Given the description of an element on the screen output the (x, y) to click on. 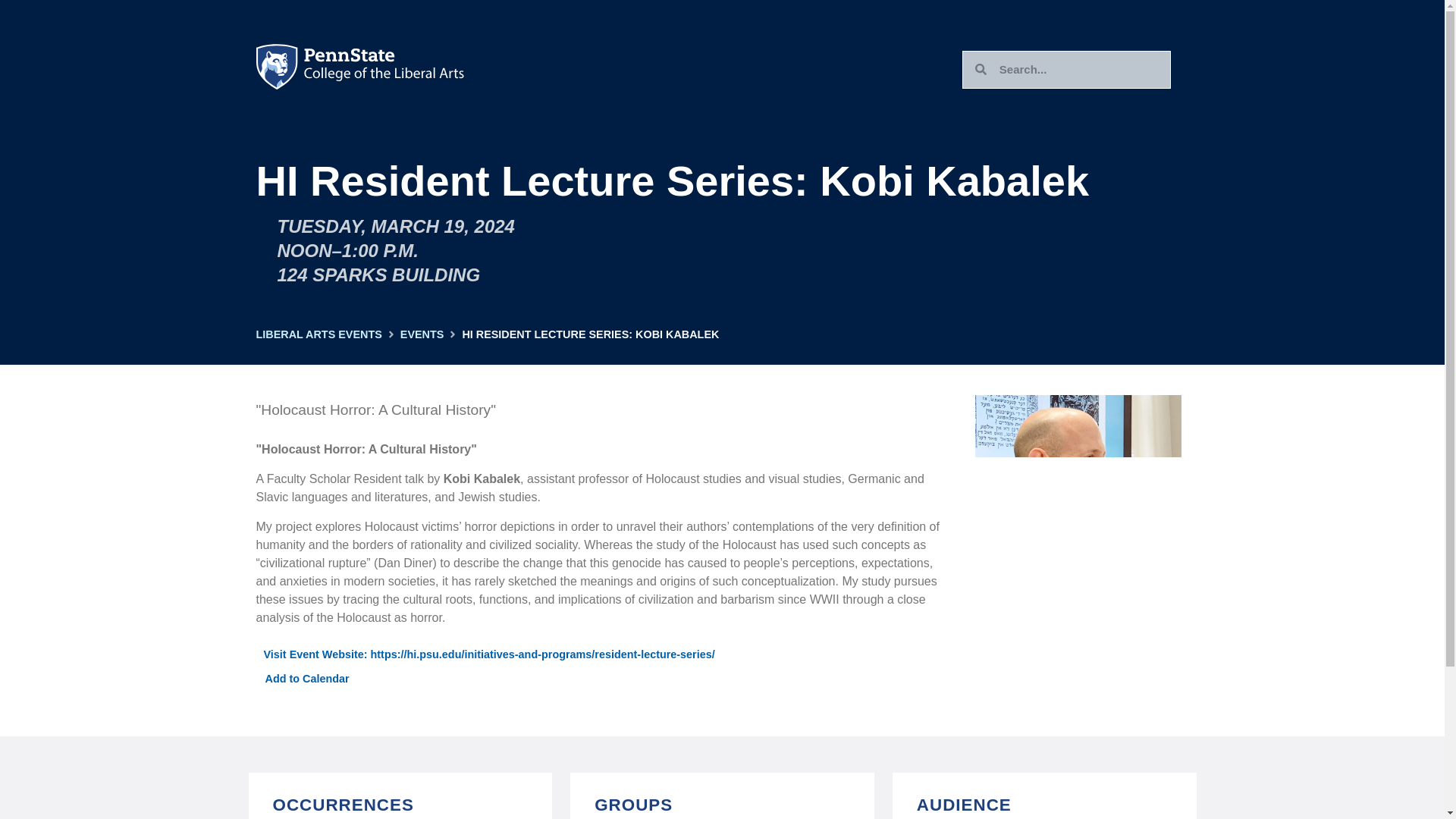
LIBERAL ARTS EVENTS (318, 334)
EVENTS (422, 334)
Events (422, 334)
Liberal Arts Events (318, 334)
Add to Calendar (303, 678)
